Given the description of an element on the screen output the (x, y) to click on. 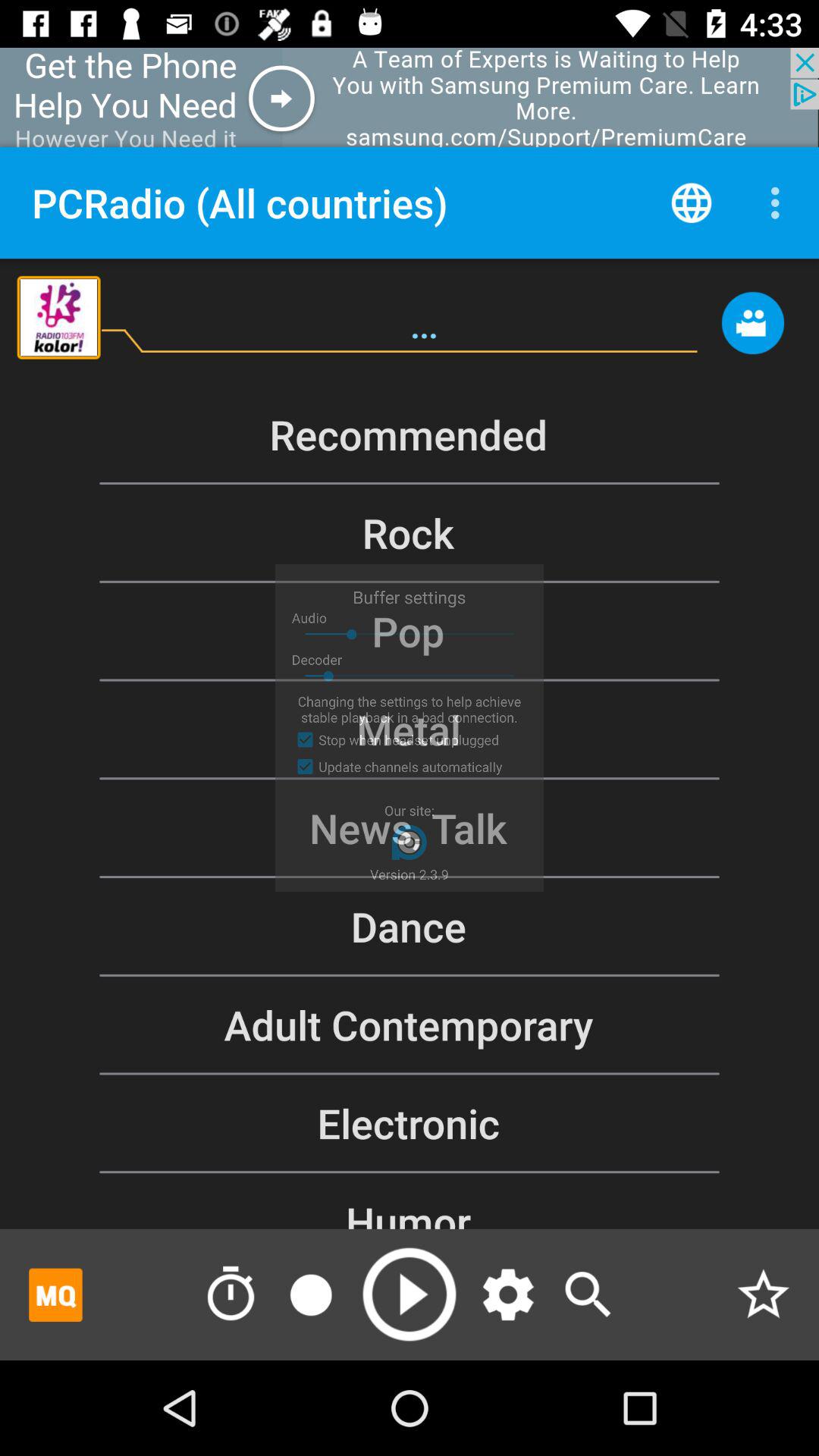
play option (409, 1294)
